Given the description of an element on the screen output the (x, y) to click on. 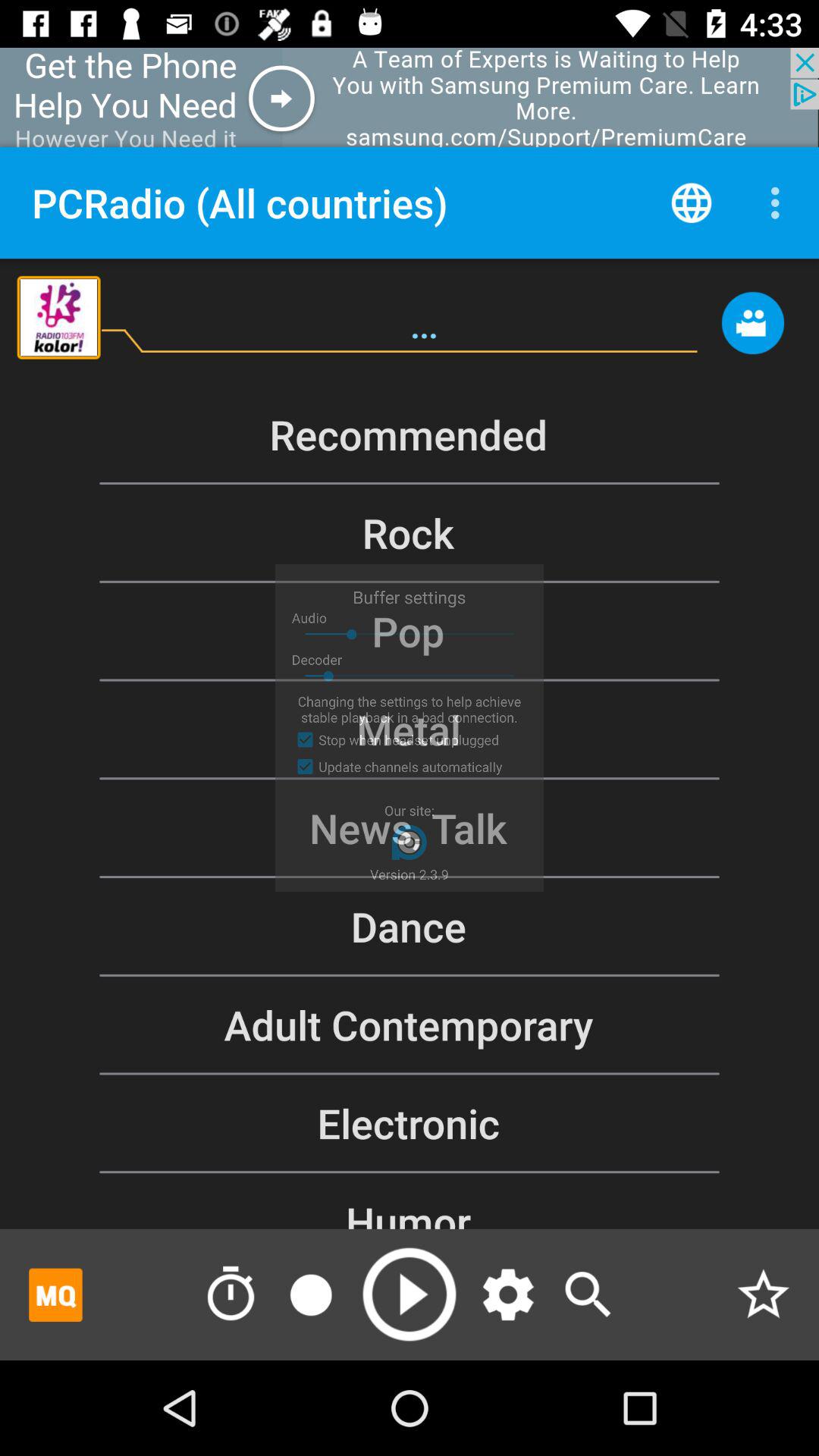
play option (409, 1294)
